Given the description of an element on the screen output the (x, y) to click on. 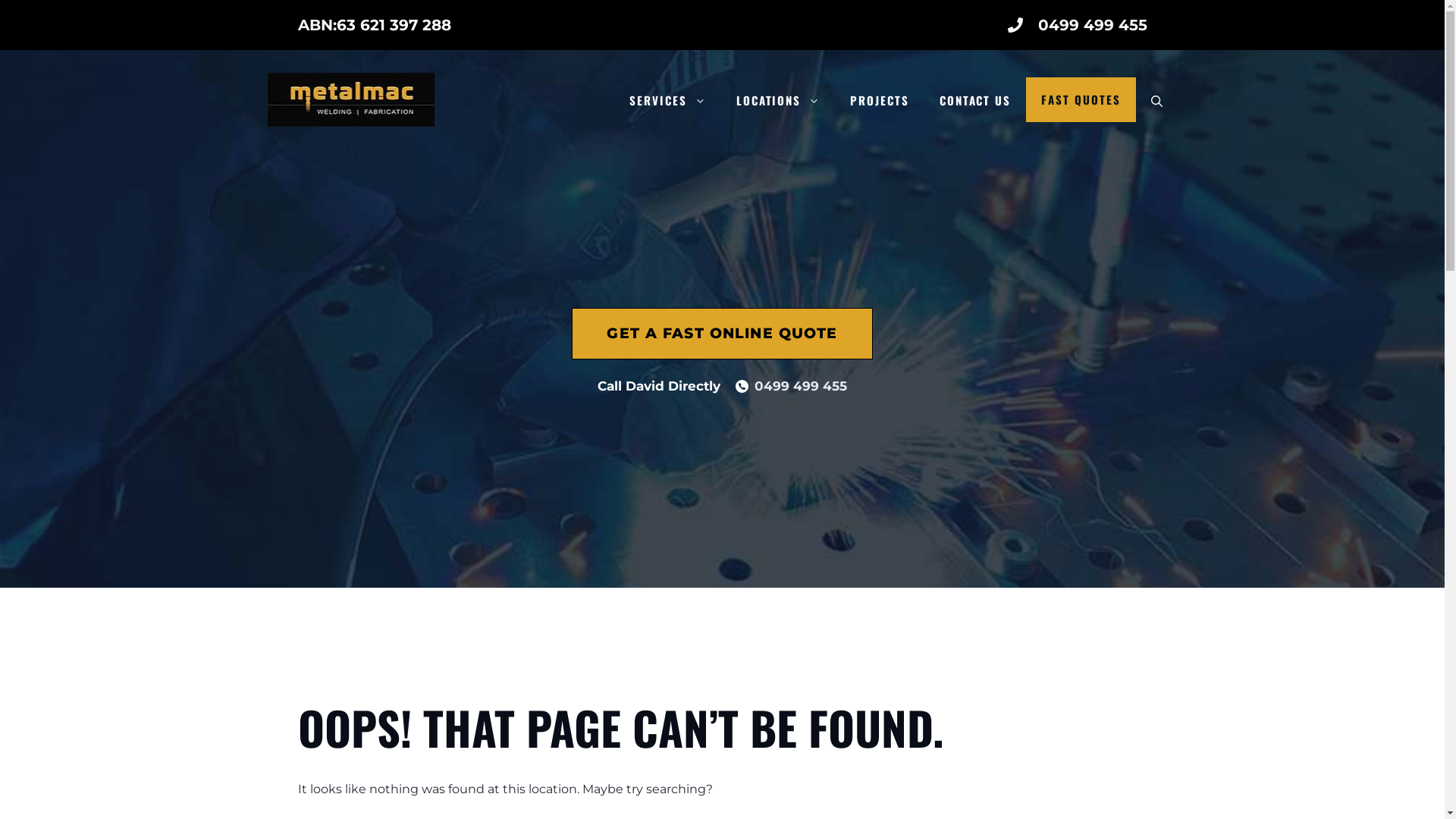
GET A FAST ONLINE QUOTE Element type: text (721, 333)
0499 499 455 Element type: text (1091, 24)
0499 499 455 Element type: text (800, 385)
ABN: Element type: text (316, 24)
PROJECTS Element type: text (879, 99)
CONTACT US Element type: text (975, 99)
SERVICES Element type: text (667, 99)
LOCATIONS Element type: text (777, 99)
